Given the description of an element on the screen output the (x, y) to click on. 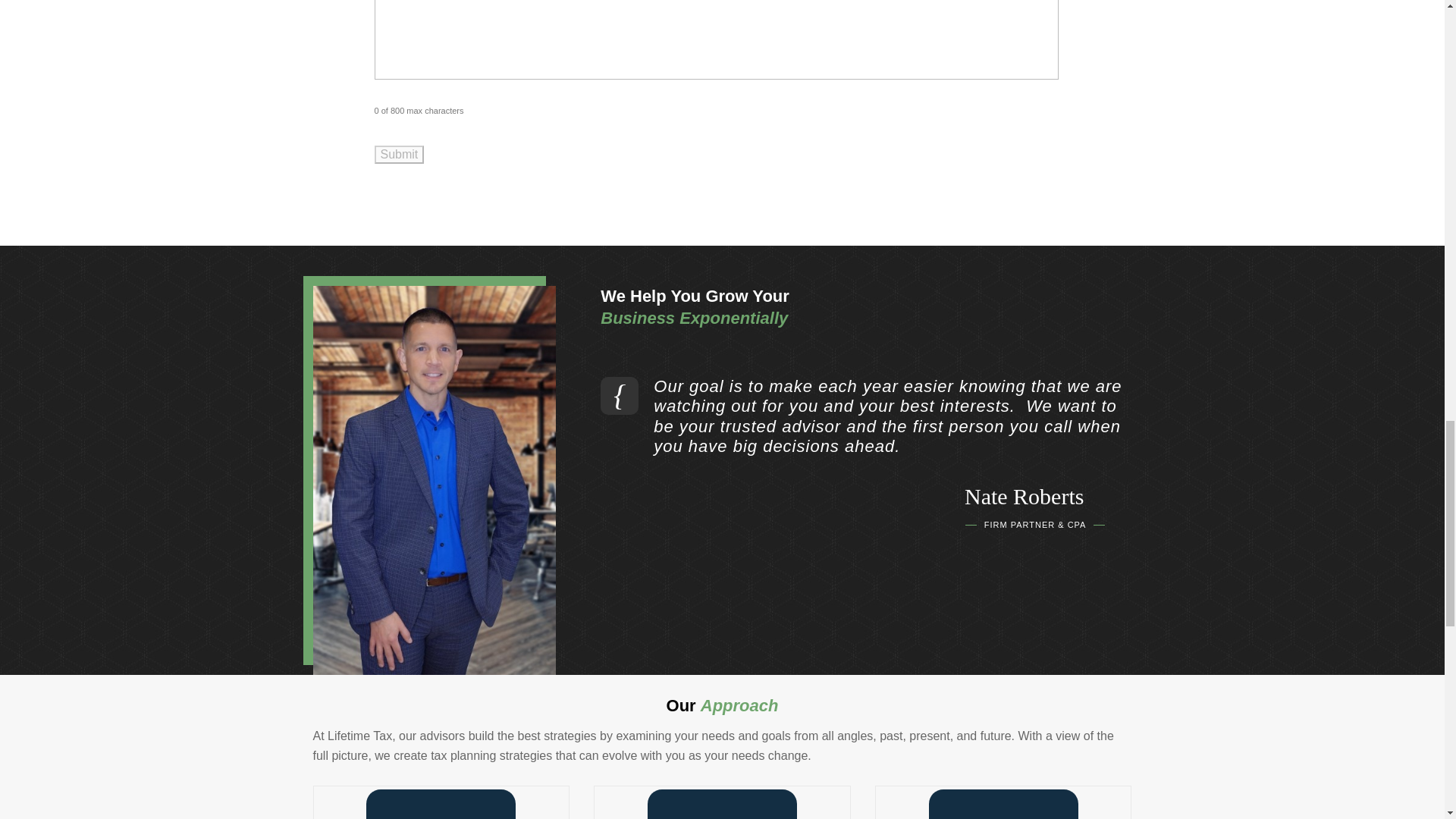
Submit (399, 154)
